Given the description of an element on the screen output the (x, y) to click on. 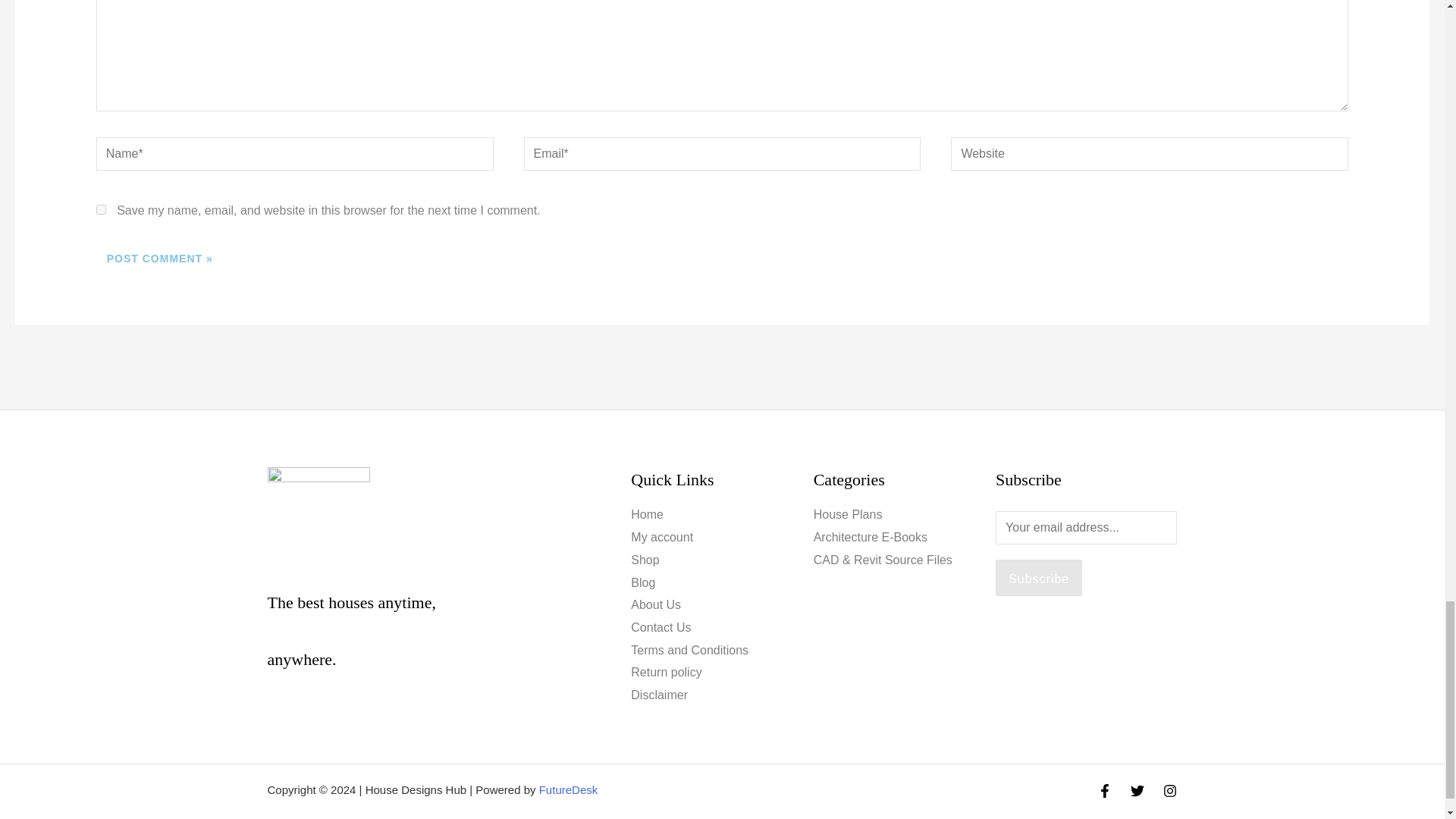
yes (101, 209)
Home (646, 513)
